Given the description of an element on the screen output the (x, y) to click on. 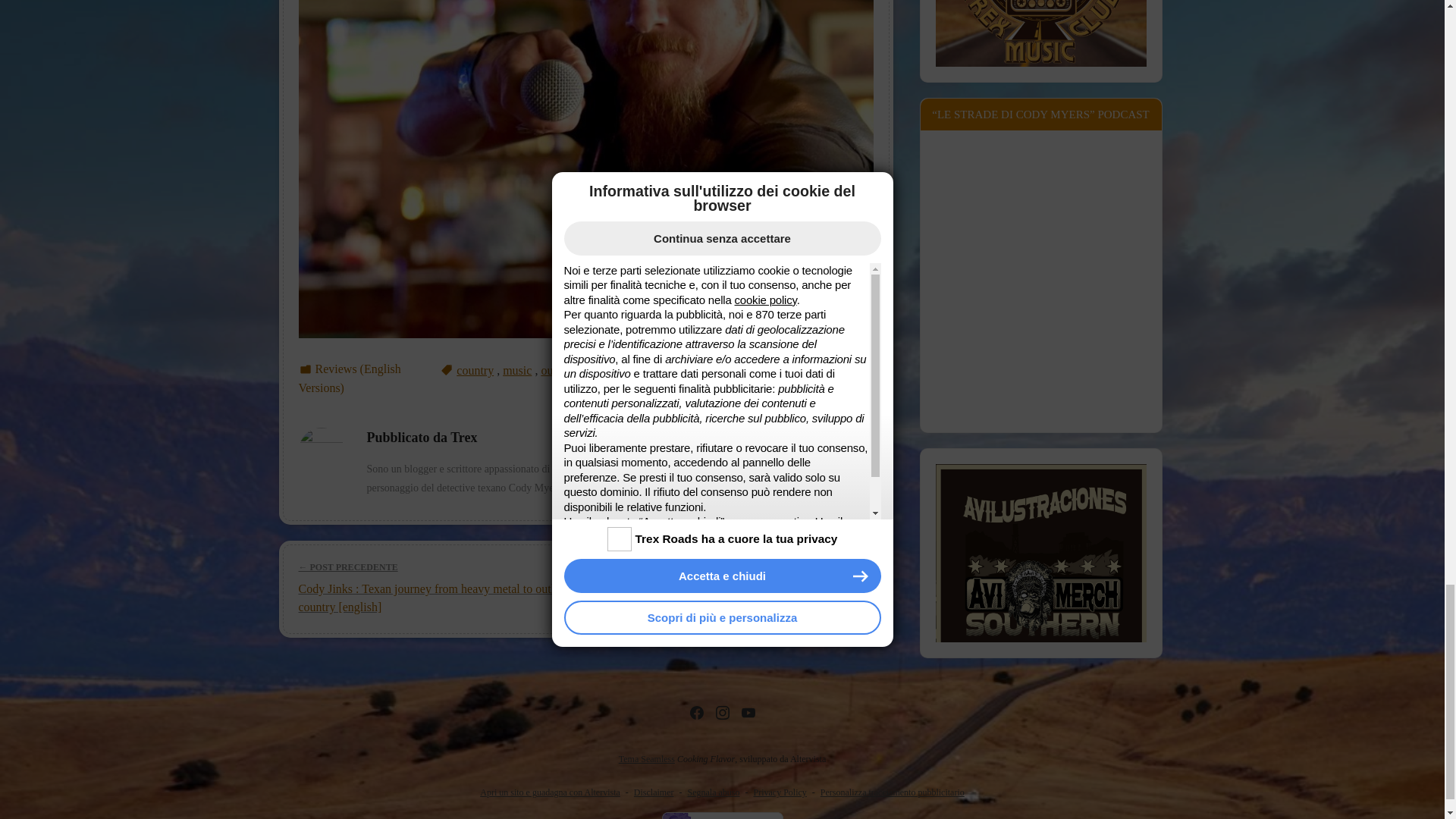
review (639, 369)
whey jennings (838, 369)
Youtube (748, 712)
texas (707, 369)
Facebook (696, 712)
outlaw country (576, 369)
ticino notizie (761, 369)
Instagram (722, 712)
country (475, 369)
Mostra altri articoli (607, 487)
music (516, 369)
Crea un sito gratis e guadagna (550, 791)
rock (675, 369)
